Given the description of an element on the screen output the (x, y) to click on. 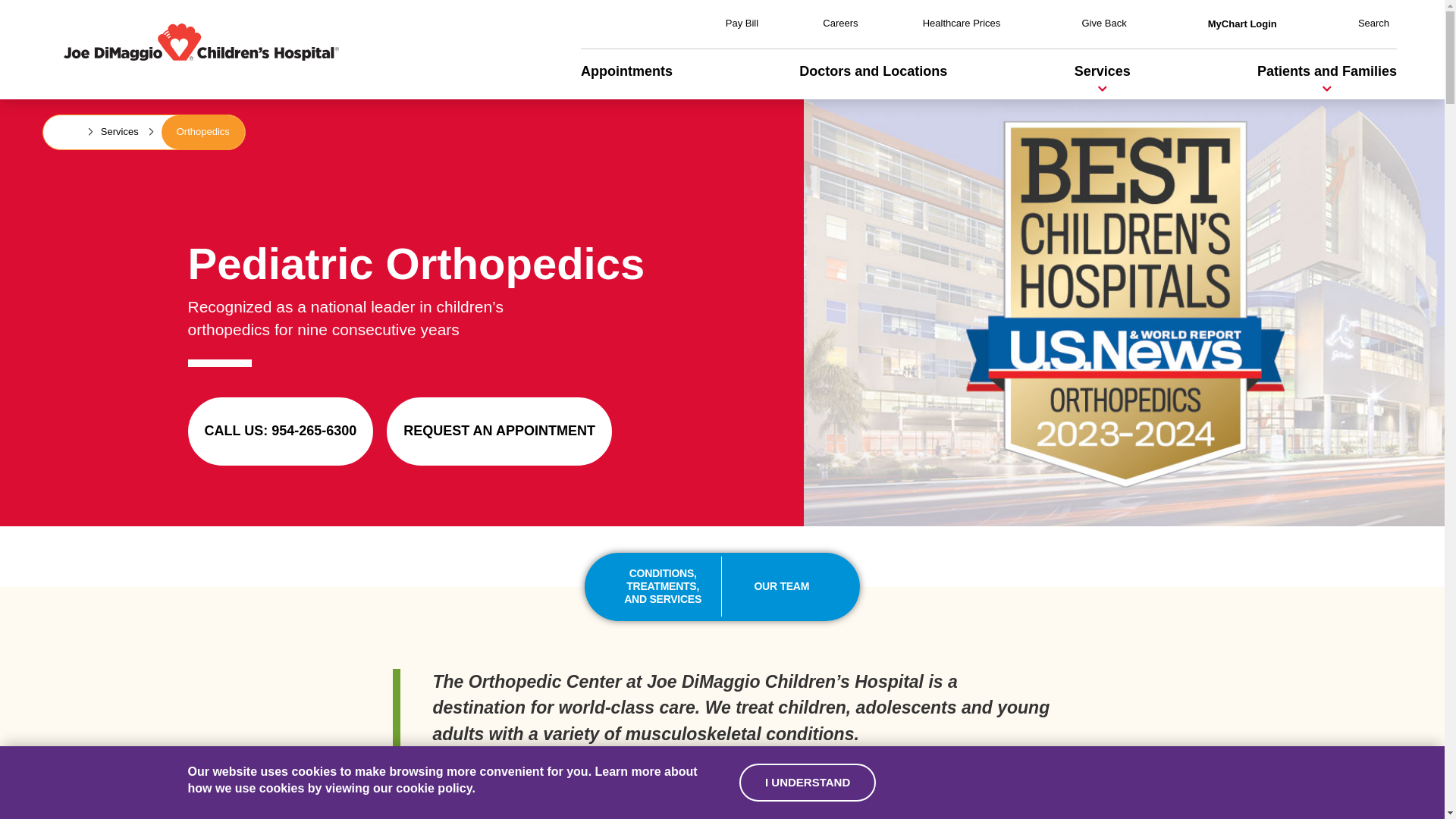
Healthcare Prices (962, 23)
Give Back (1103, 23)
Pay Bill (741, 23)
Services (1102, 71)
MyChart Login (1242, 23)
Patients and Families (1326, 71)
Search (1373, 23)
Appointments (626, 71)
Careers (839, 23)
